Given the description of an element on the screen output the (x, y) to click on. 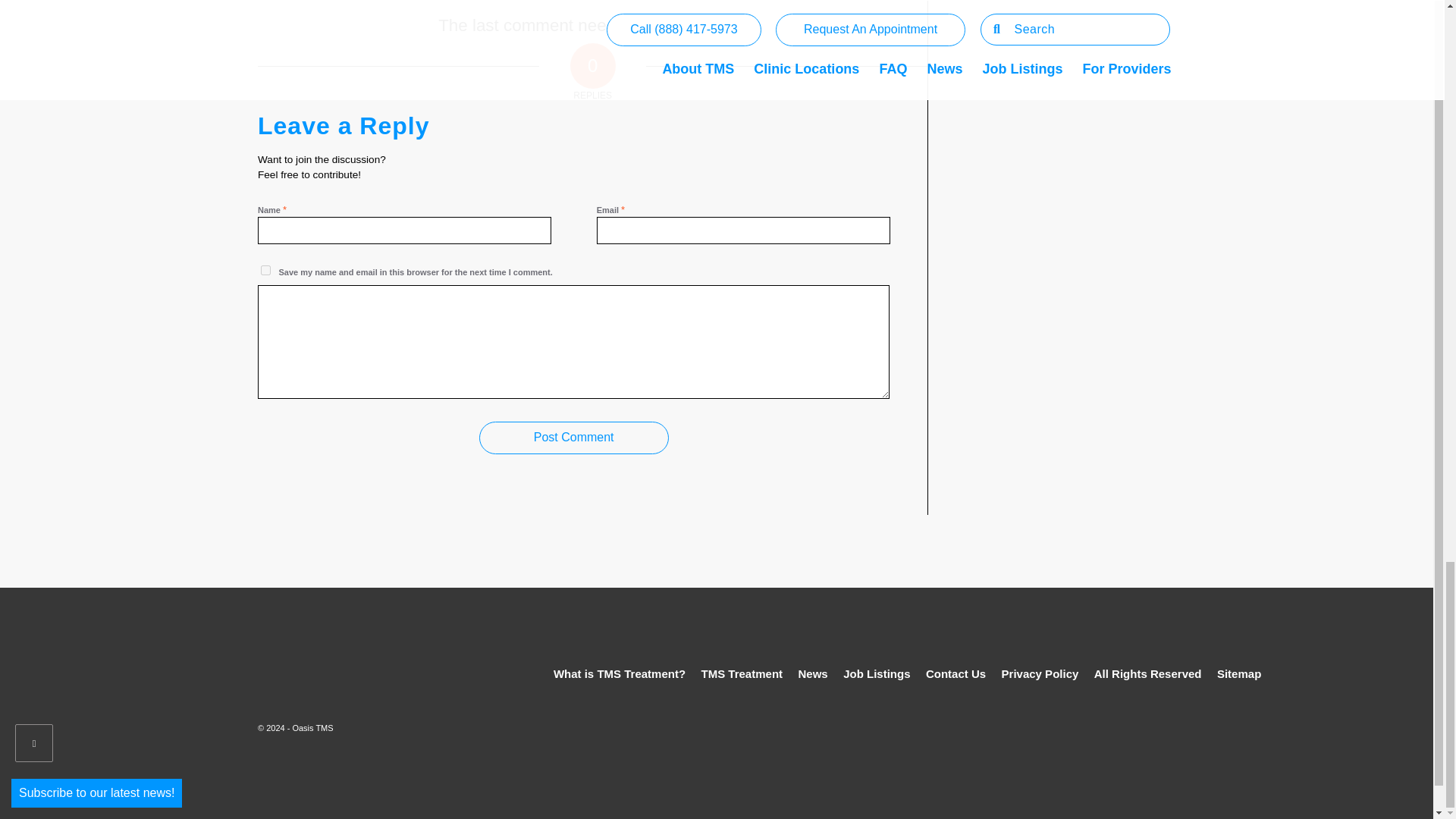
Post Comment (573, 437)
Oasis-tms-logo (306, 655)
yes (265, 270)
